Given the description of an element on the screen output the (x, y) to click on. 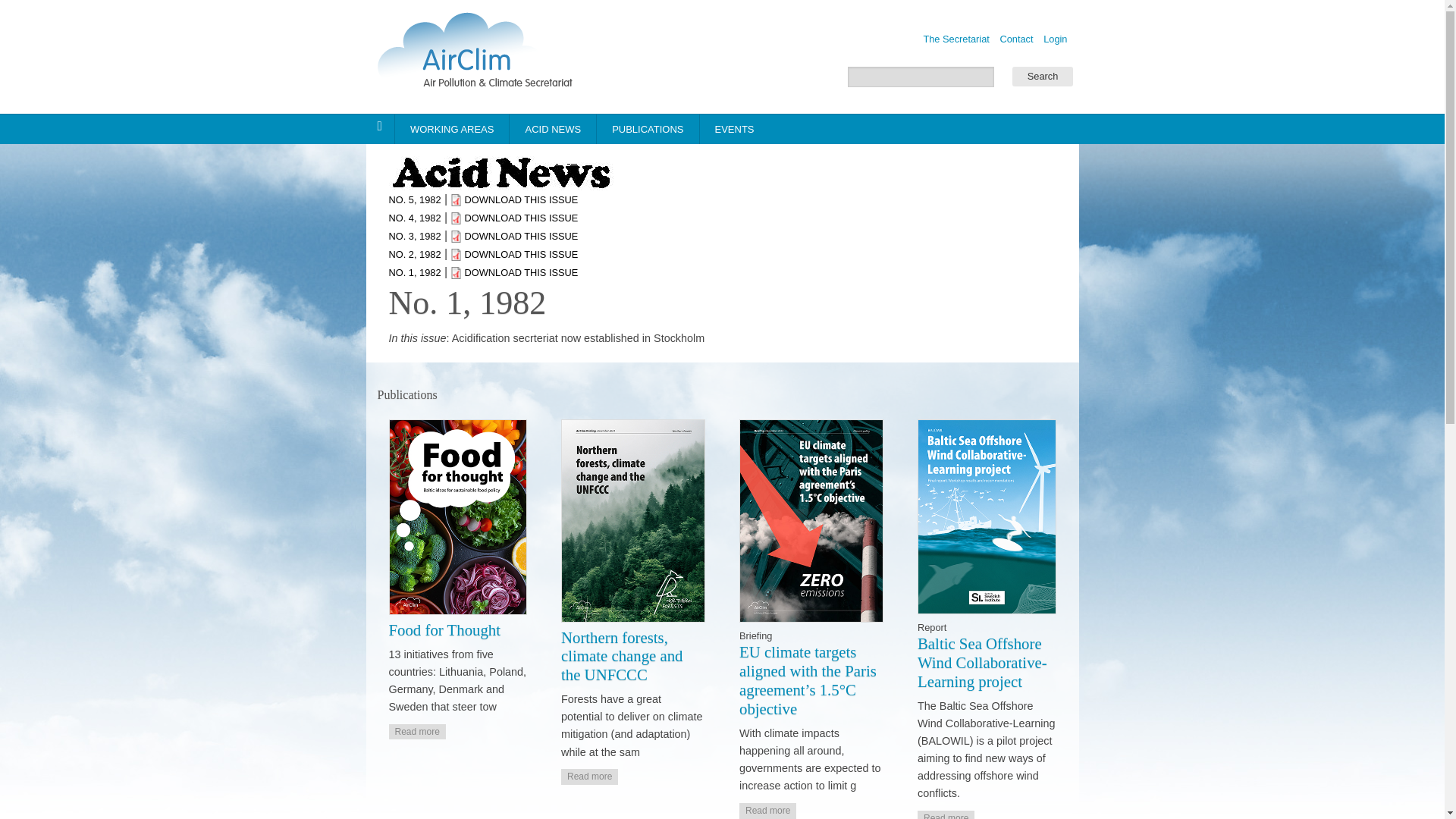
Login (1055, 39)
The Secretariat (956, 39)
Airclim Home (481, 54)
Enter the terms you wish to search for. (920, 76)
Airclim Home (481, 55)
Contact (1015, 39)
Search (1042, 76)
